Given the description of an element on the screen output the (x, y) to click on. 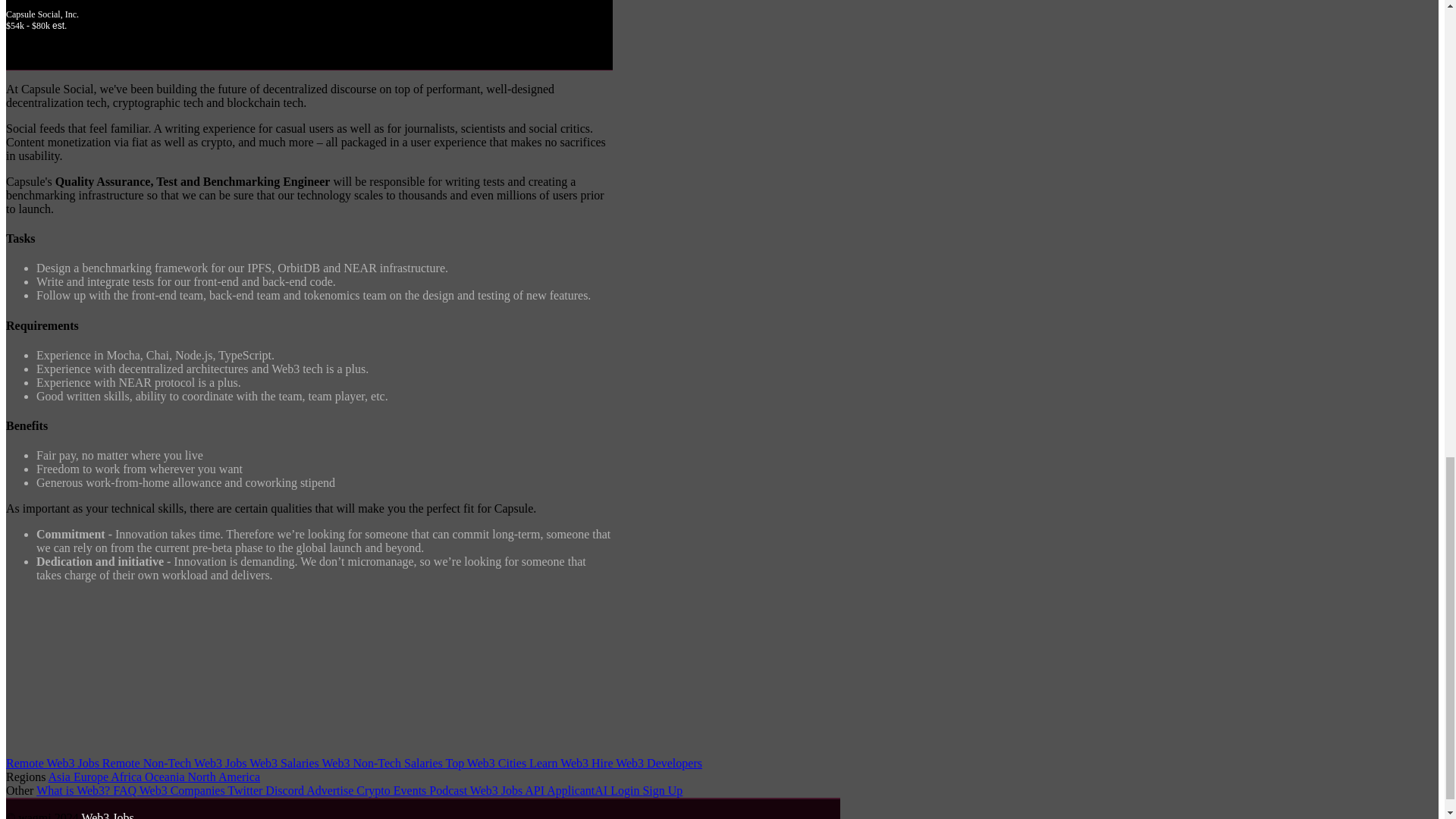
Estimated compensation based on similar jobs (308, 25)
